Given the description of an element on the screen output the (x, y) to click on. 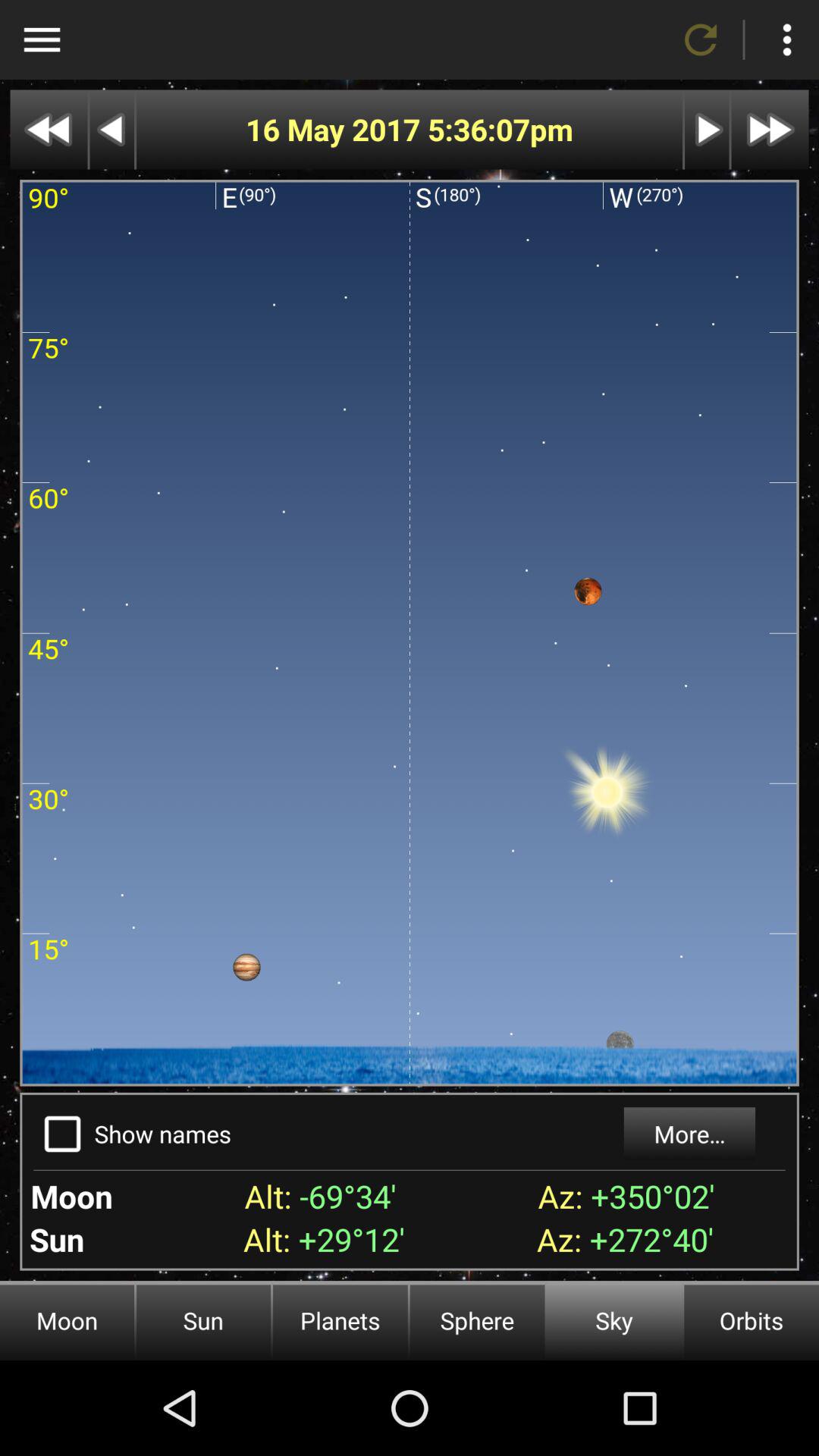
press play (706, 129)
